Given the description of an element on the screen output the (x, y) to click on. 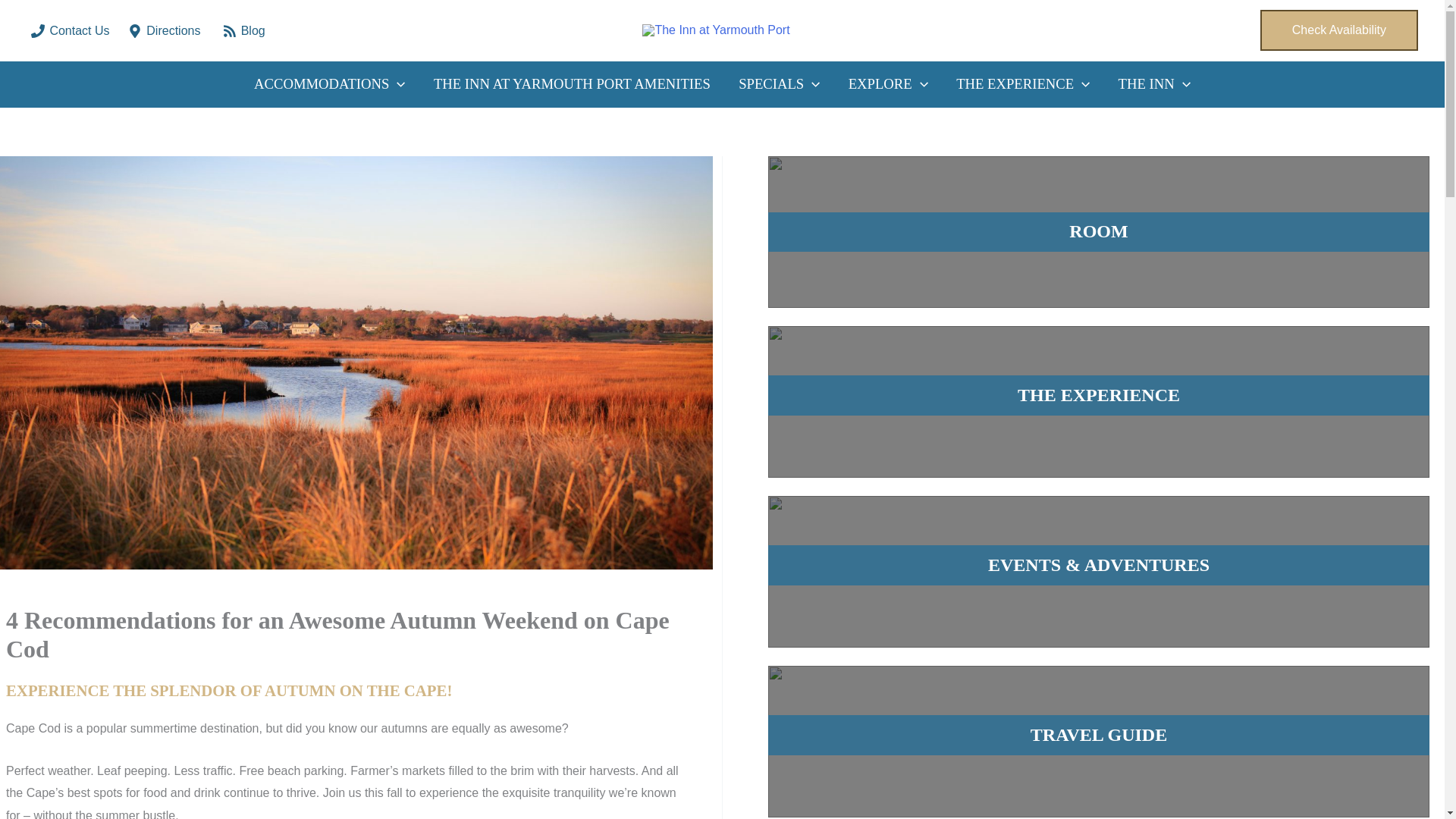
EXPLORE (888, 84)
THE EXPERIENCE (1022, 84)
SPECIALS (779, 84)
Check Availability (1339, 29)
ACCOMMODATIONS (329, 84)
Directions  (165, 30)
Blog (242, 30)
THE INN (1154, 84)
THE INN AT YARMOUTH PORT AMENITIES (571, 84)
Contact Us (70, 30)
